Given the description of an element on the screen output the (x, y) to click on. 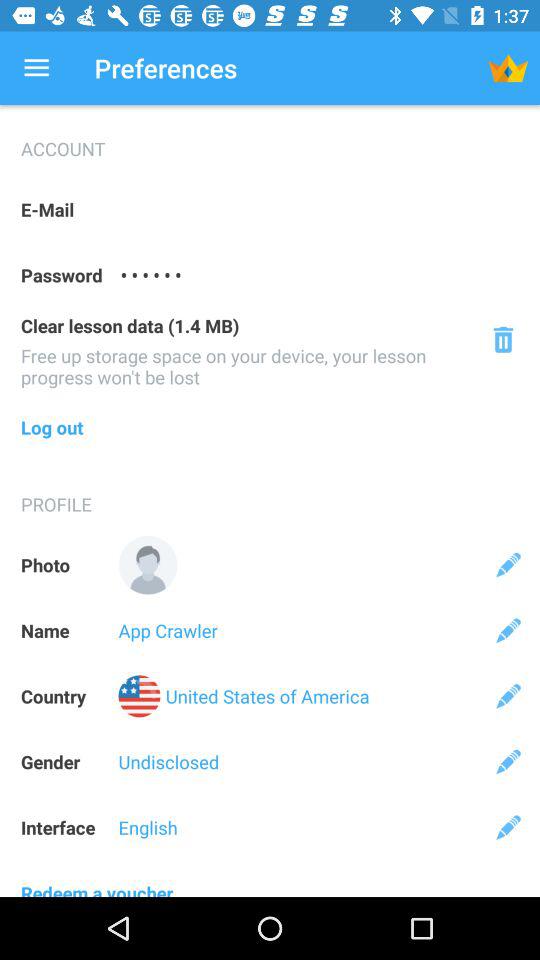
english selected as interface (508, 827)
